Given the description of an element on the screen output the (x, y) to click on. 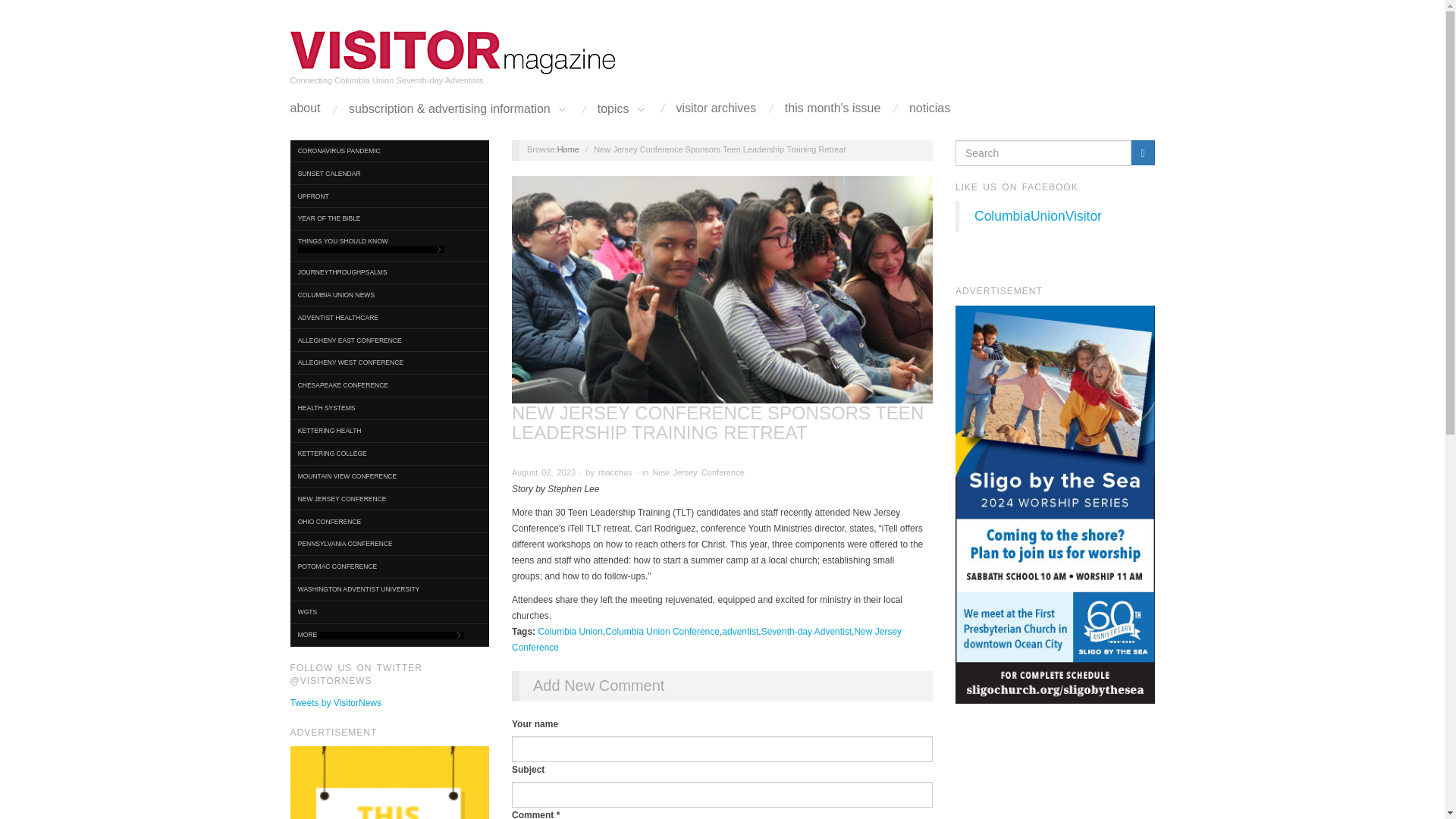
this month's issue (832, 107)
about (304, 107)
THINGS YOU SHOULD KNOW (389, 245)
YEAR OF THE BIBLE (389, 219)
topics (621, 109)
visitor archives (717, 107)
SUNSET CALENDAR (389, 173)
Home (452, 52)
UPFRONT (389, 196)
CORONAVIRUS PANDEMIC (389, 150)
JOURNEYTHROUGHPSALMS (389, 272)
noticias (929, 107)
